Given the description of an element on the screen output the (x, y) to click on. 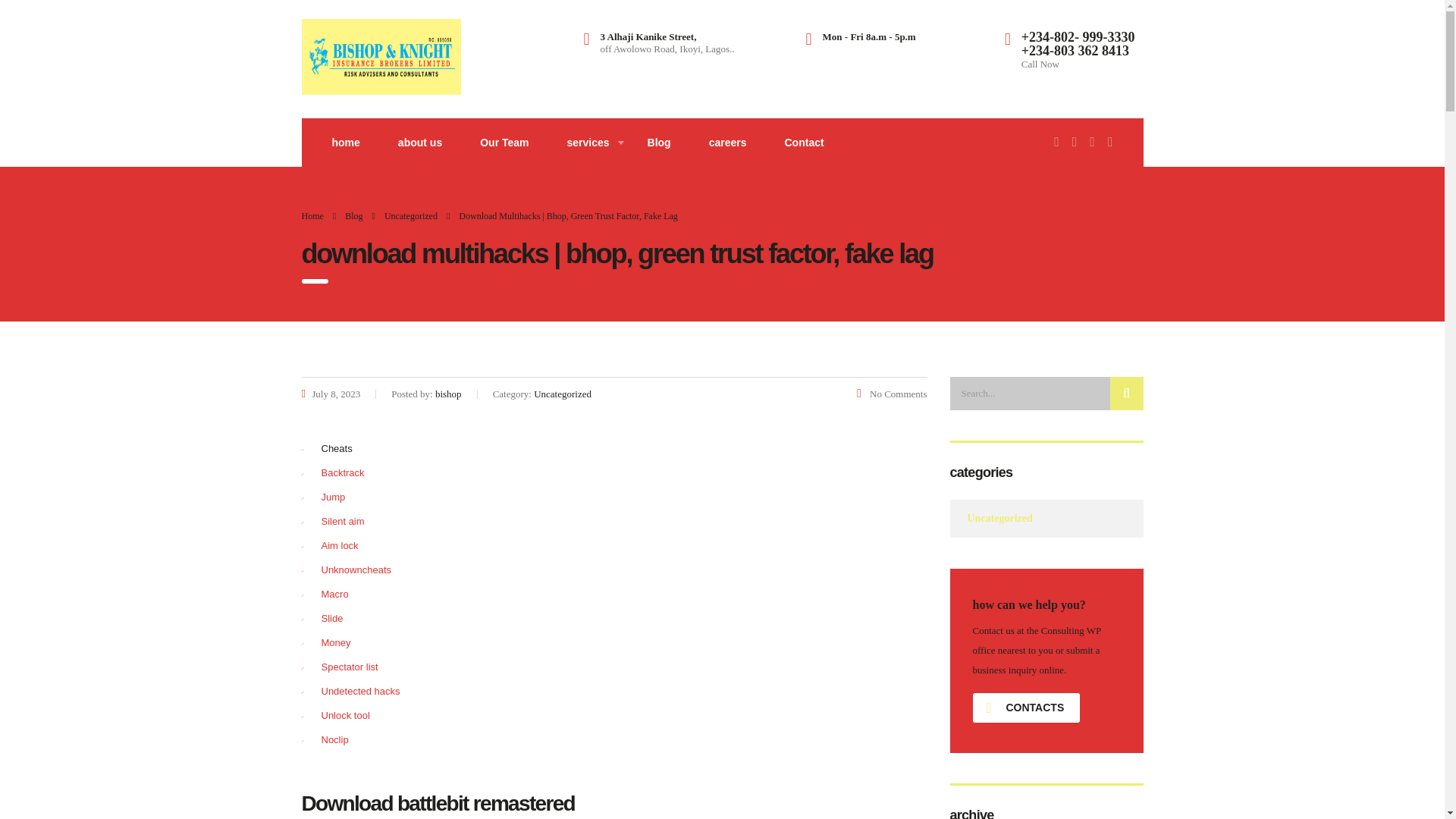
Our Team (504, 142)
Go to the Uncategorized category archives. (411, 215)
Go to Blog. (353, 215)
Go to Bishop and Knight. (312, 215)
careers (727, 142)
Contact (804, 142)
about us (419, 142)
home (345, 142)
services (587, 142)
Blog (659, 142)
